Given the description of an element on the screen output the (x, y) to click on. 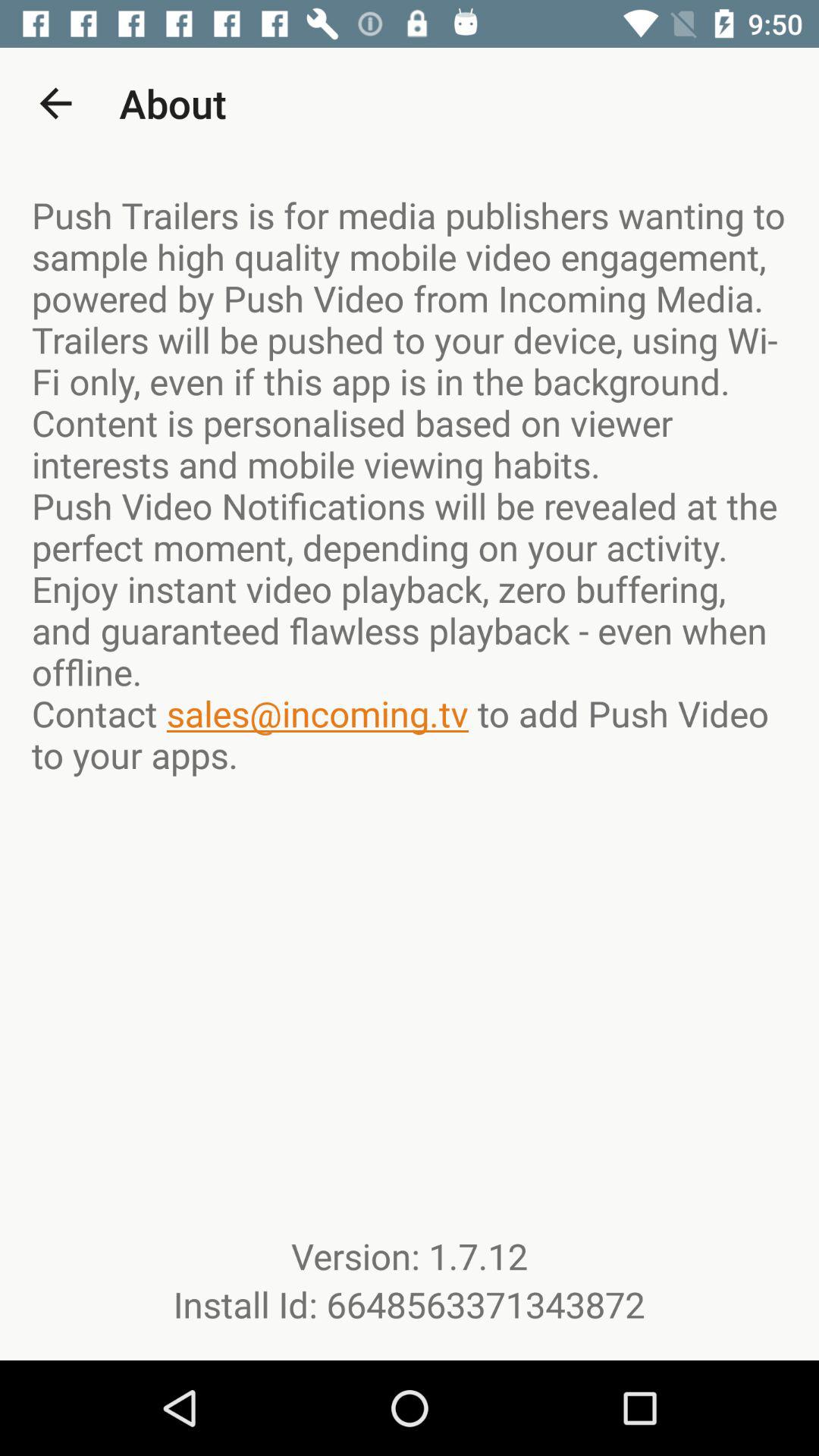
launch the push trailers is (409, 485)
